Given the description of an element on the screen output the (x, y) to click on. 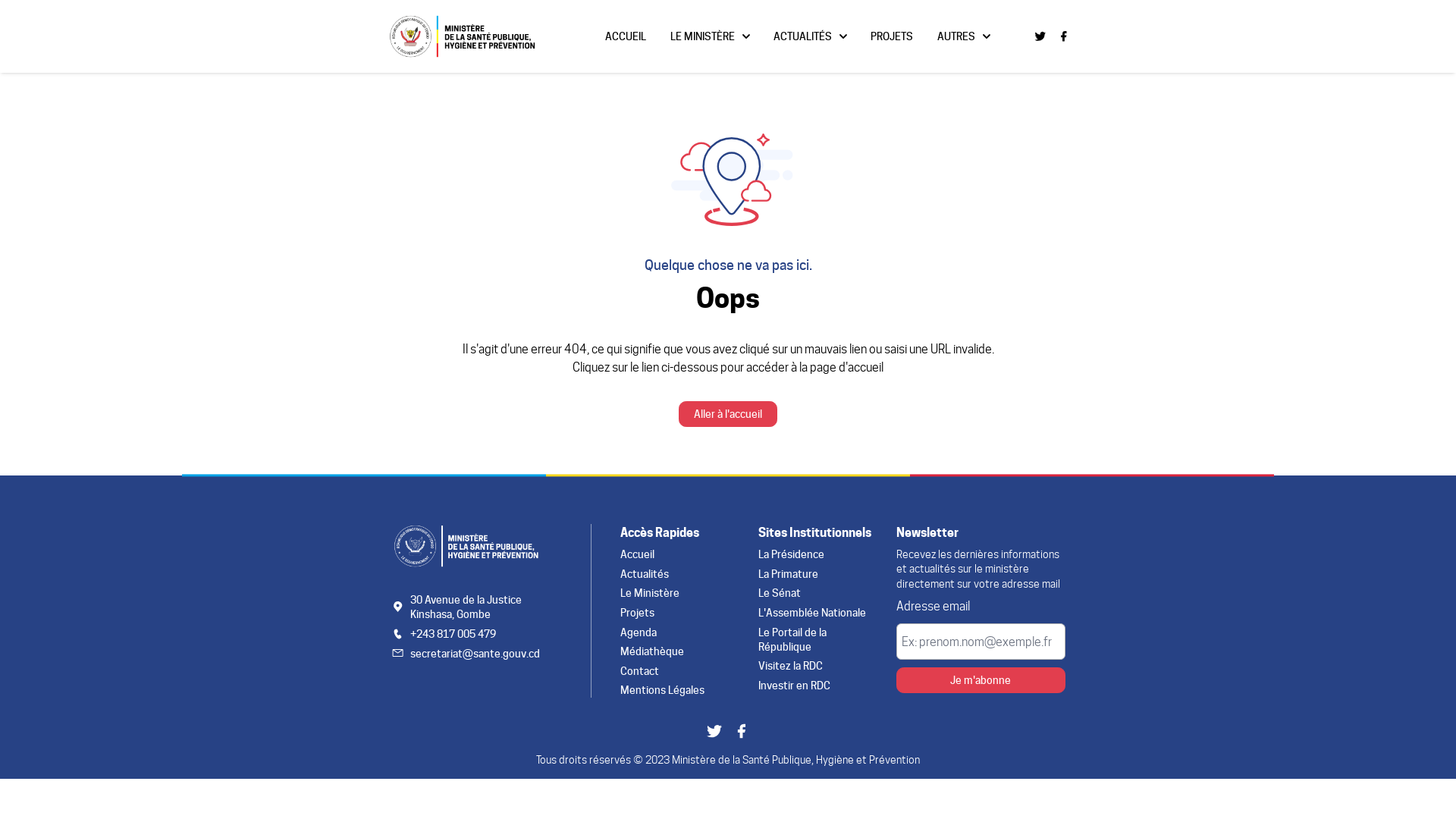
Accueil Element type: text (796, 692)
AUTRES Element type: text (1195, 45)
Agenda Element type: text (798, 789)
PROJETS Element type: text (1115, 45)
ACCUEIL Element type: text (781, 45)
Projets Element type: text (796, 765)
+243 817 005 479 Element type: text (565, 792)
La Primature Element type: text (984, 716)
